Given the description of an element on the screen output the (x, y) to click on. 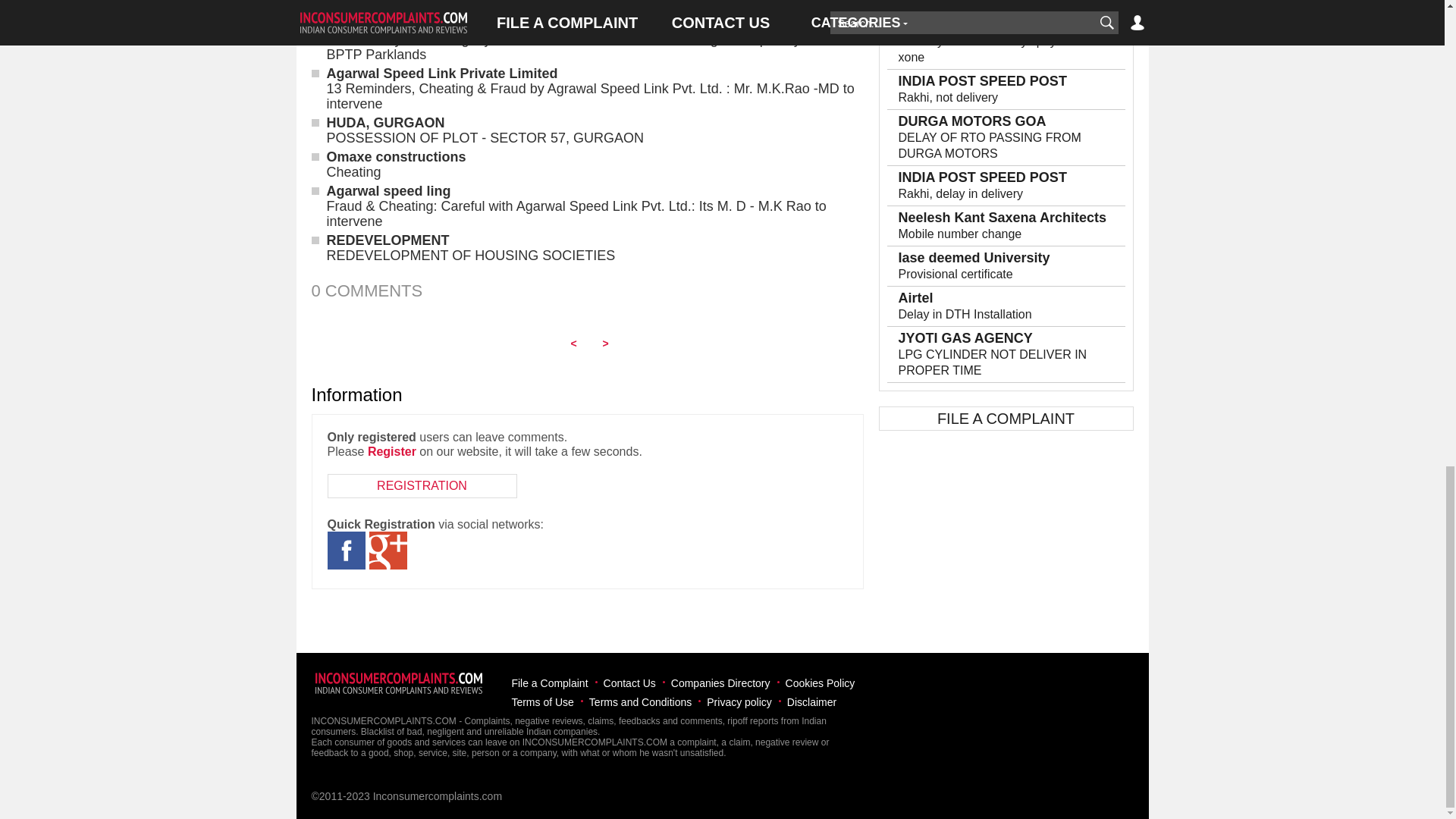
Login with Google (387, 550)
Login with Facebook (346, 550)
